Given the description of an element on the screen output the (x, y) to click on. 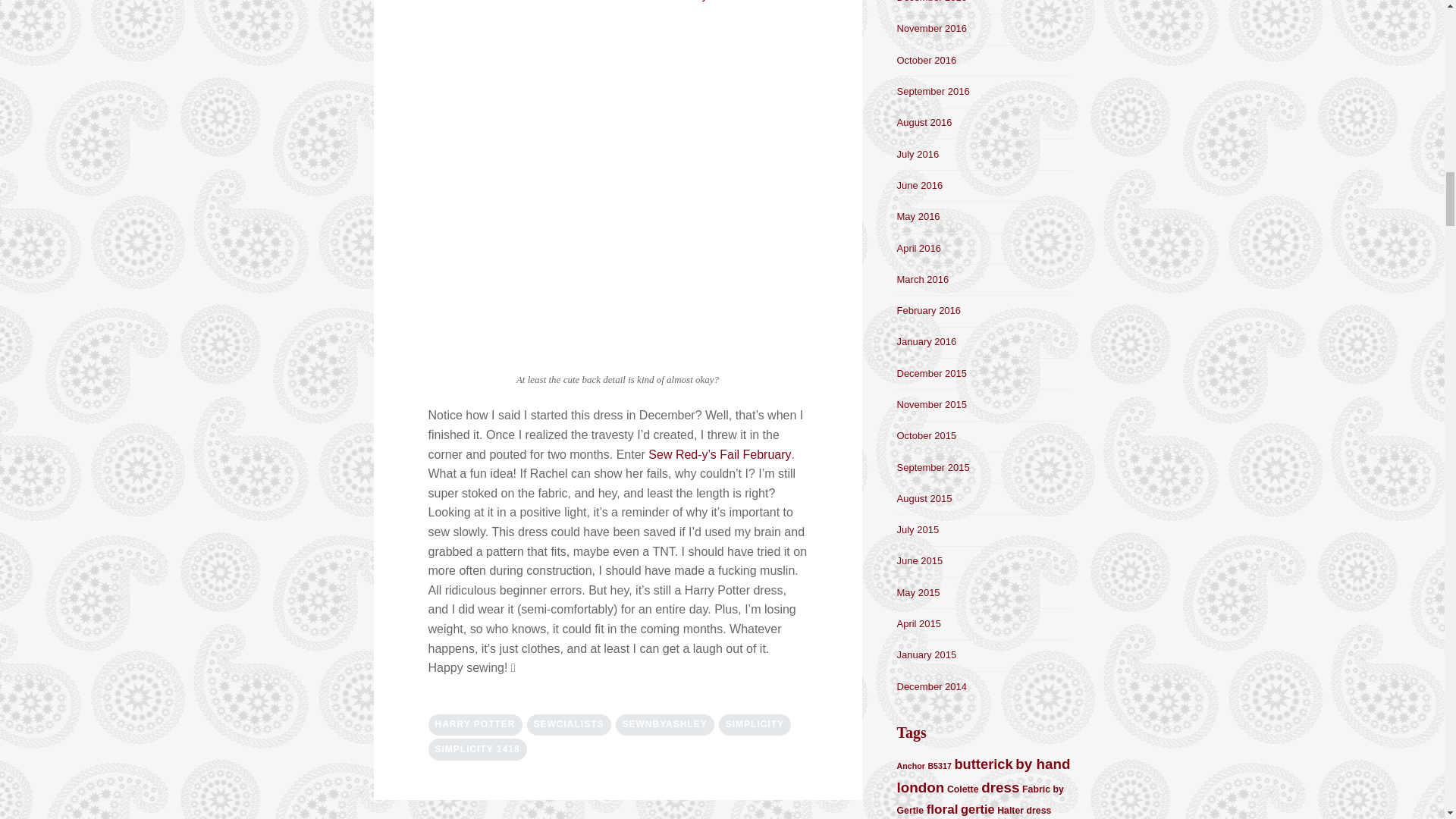
HARRY POTTER (474, 724)
SEWNBYASHLEY (664, 724)
SEWCIALISTS (569, 724)
SIMPLICITY (754, 724)
SIMPLICITY 1418 (476, 749)
